Given the description of an element on the screen output the (x, y) to click on. 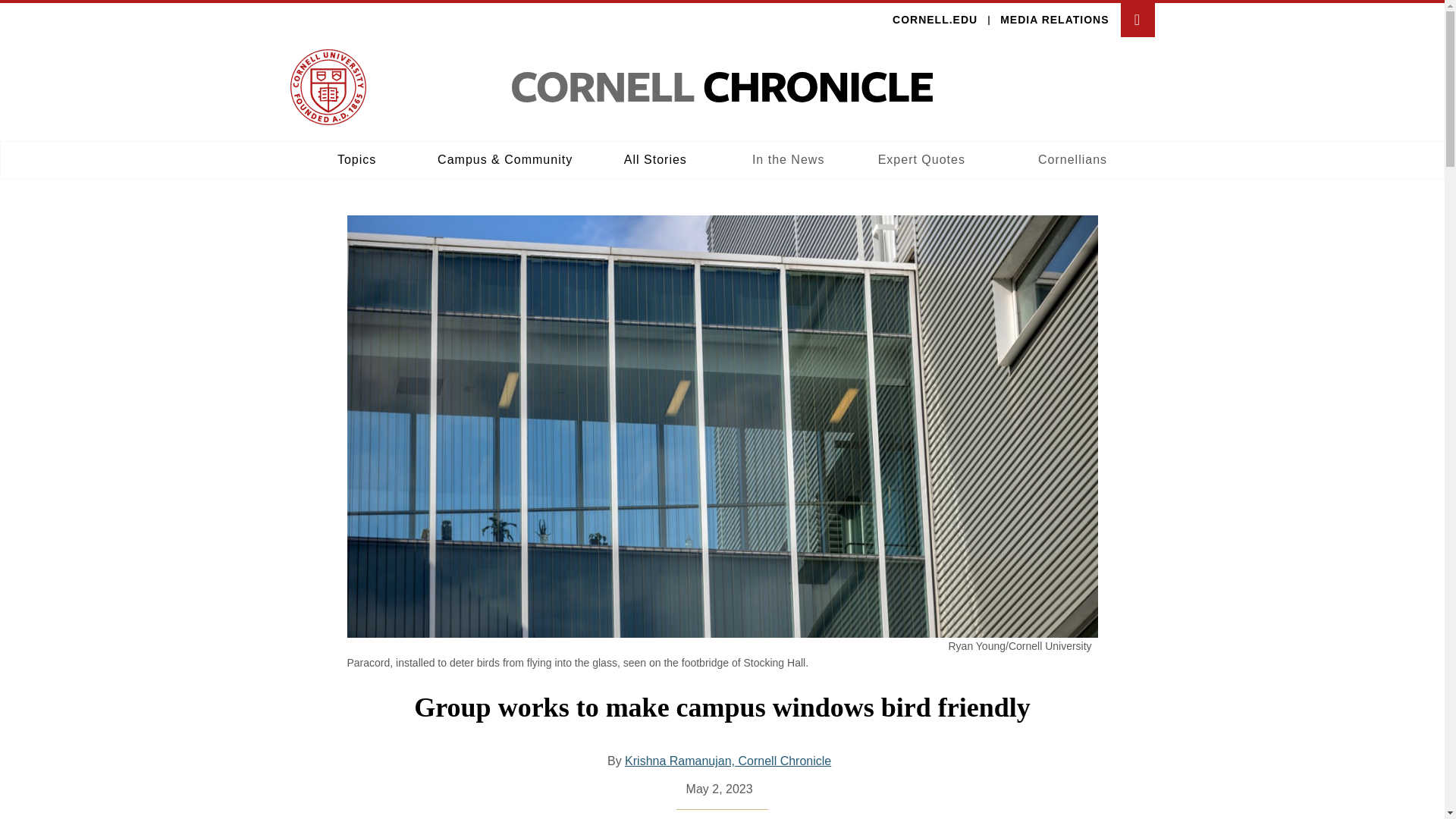
Cornell University (327, 87)
CORNELL.EDU (934, 19)
MEDIA RELATIONS (727, 761)
